Given the description of an element on the screen output the (x, y) to click on. 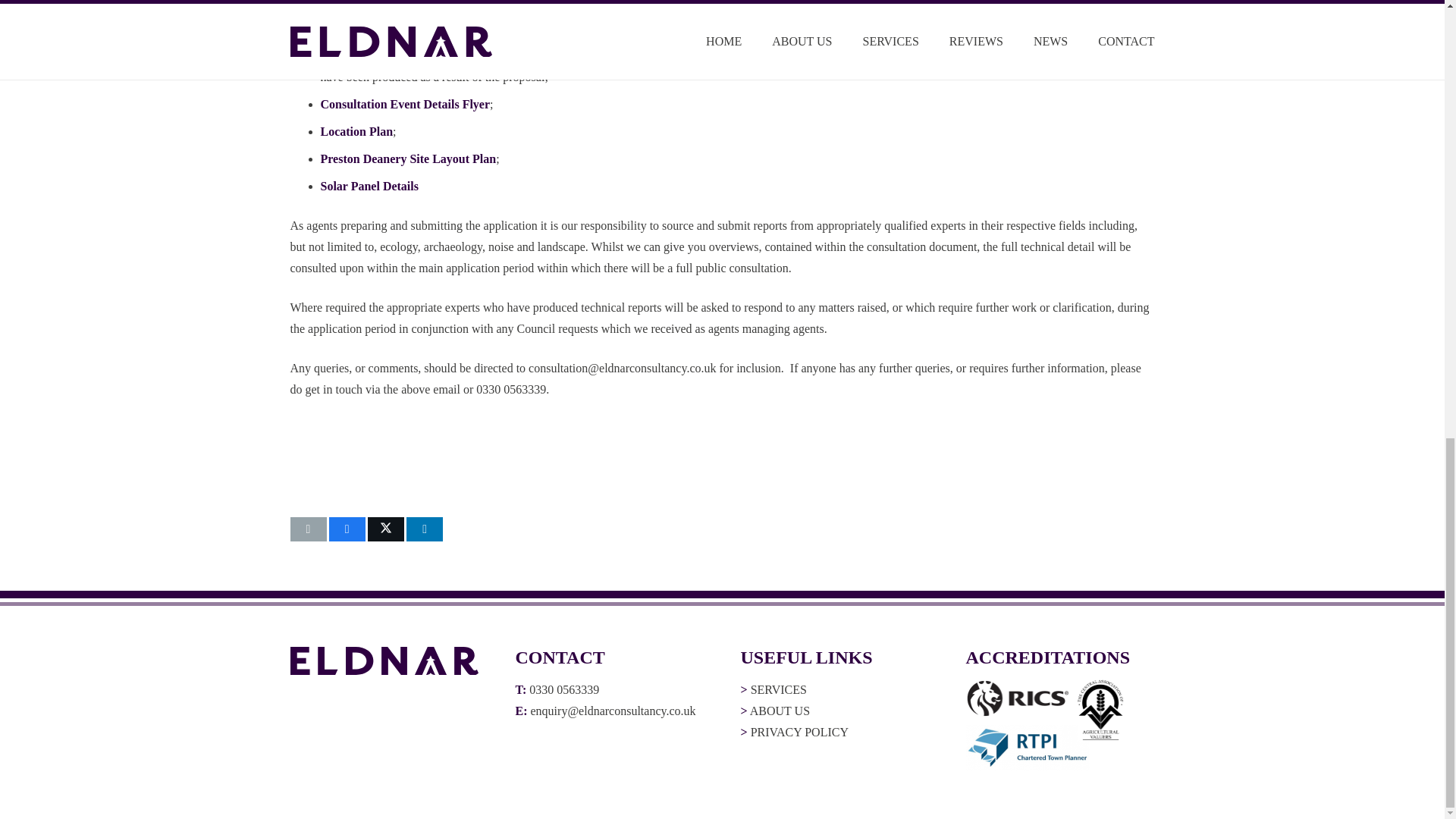
Share this (347, 528)
PRIVACY POLICY (799, 731)
ABOUT US (779, 710)
Tweet this (386, 528)
Email this (307, 528)
Share this (424, 528)
Solar Panel Details (368, 185)
0330 0563339 (563, 689)
SERVICES (778, 689)
Location Plan (356, 131)
Consultation Event Details Flyer (404, 103)
Preston Deanery Site Layout Plan (408, 158)
Consultation Information Document (414, 55)
